Given the description of an element on the screen output the (x, y) to click on. 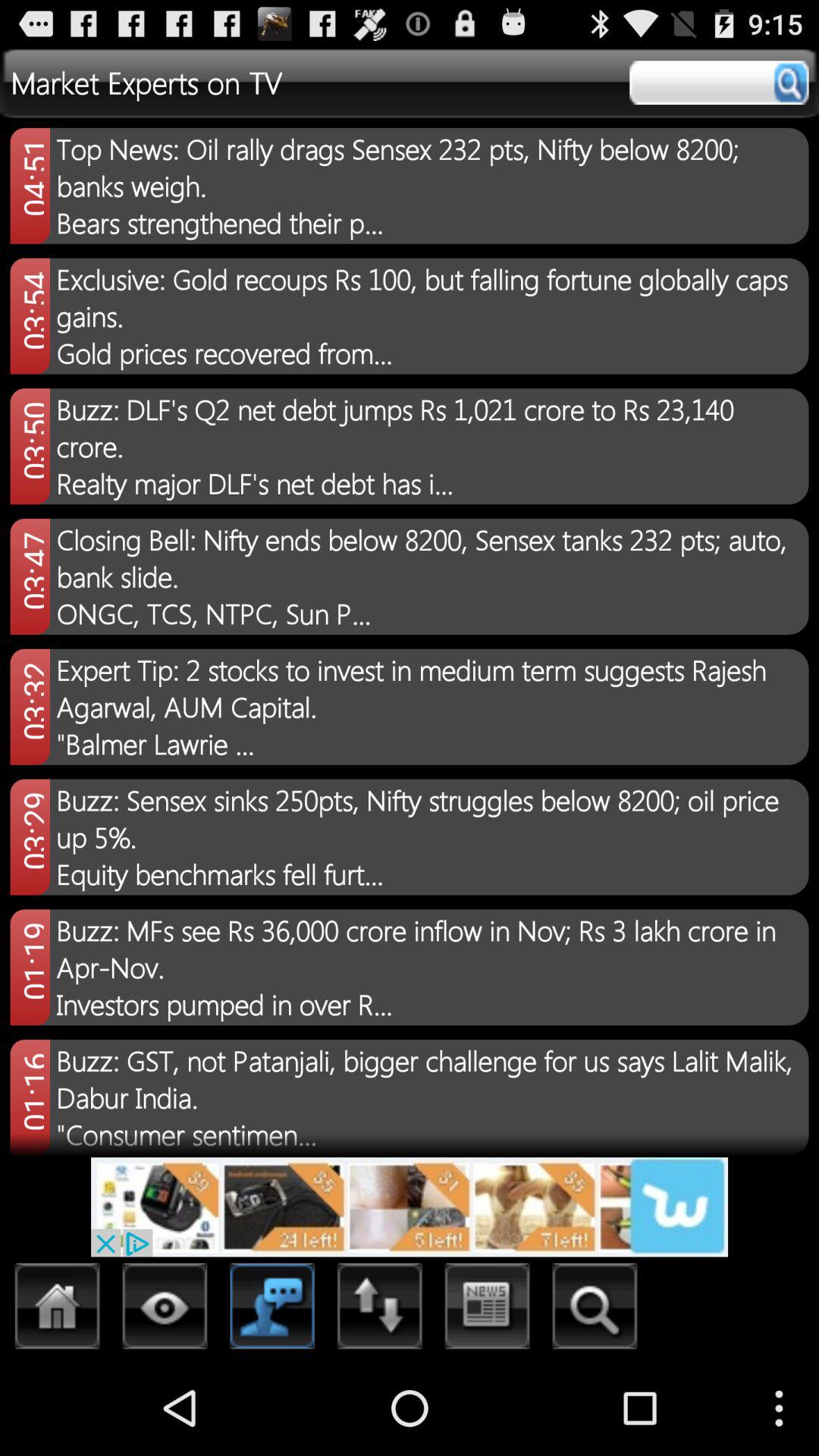
contain (272, 1310)
